Given the description of an element on the screen output the (x, y) to click on. 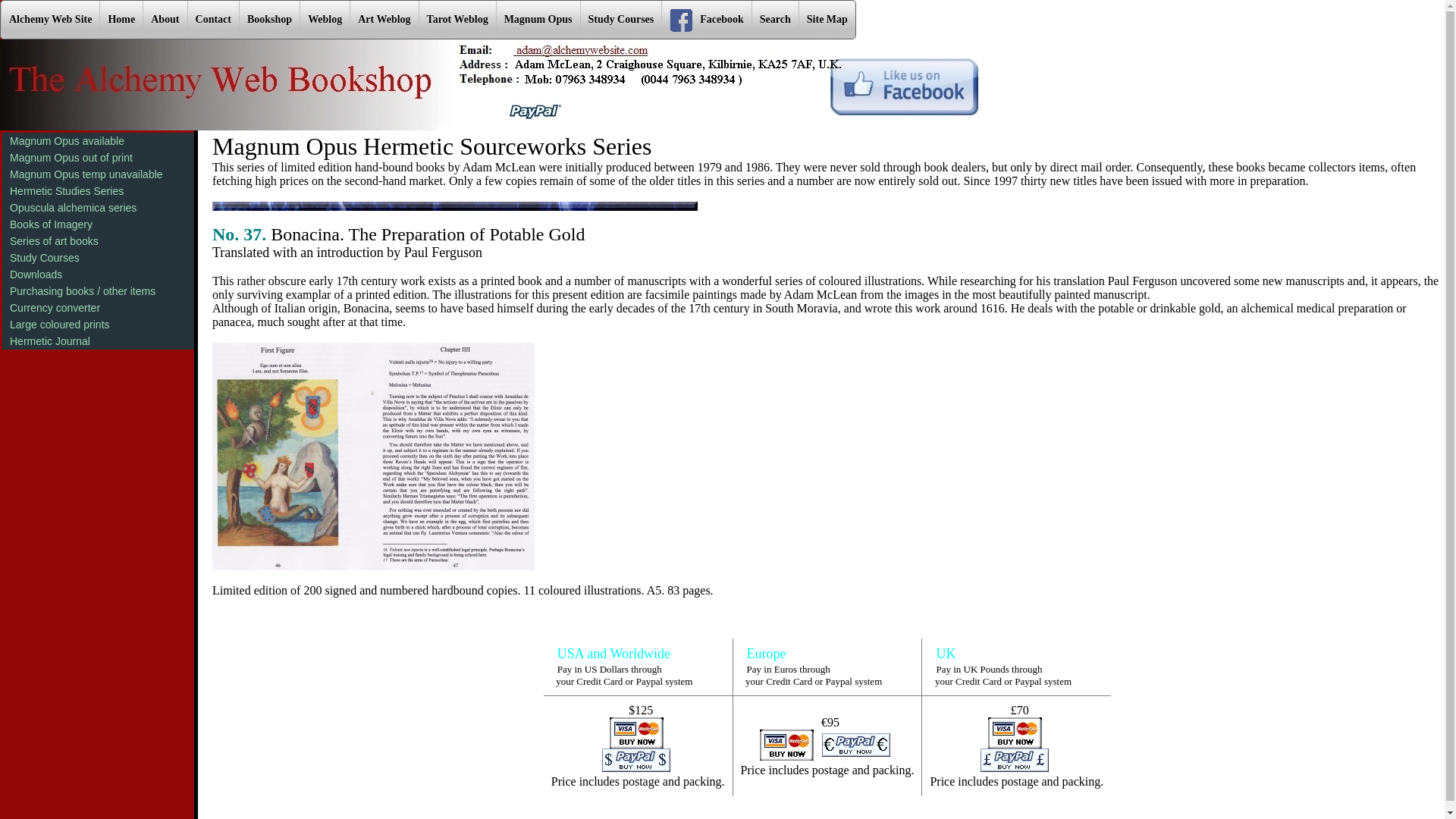
Study Courses (620, 19)
Facebook (706, 19)
Home (120, 19)
Search (774, 19)
Alchemy Web Site (50, 19)
Weblog (324, 19)
Art Weblog (383, 19)
Magnum Opus (537, 19)
Site Map (826, 19)
About (164, 19)
Contact (212, 19)
Tarot Weblog (457, 19)
Magnum Opus available (97, 140)
Bookshop (268, 19)
